Given the description of an element on the screen output the (x, y) to click on. 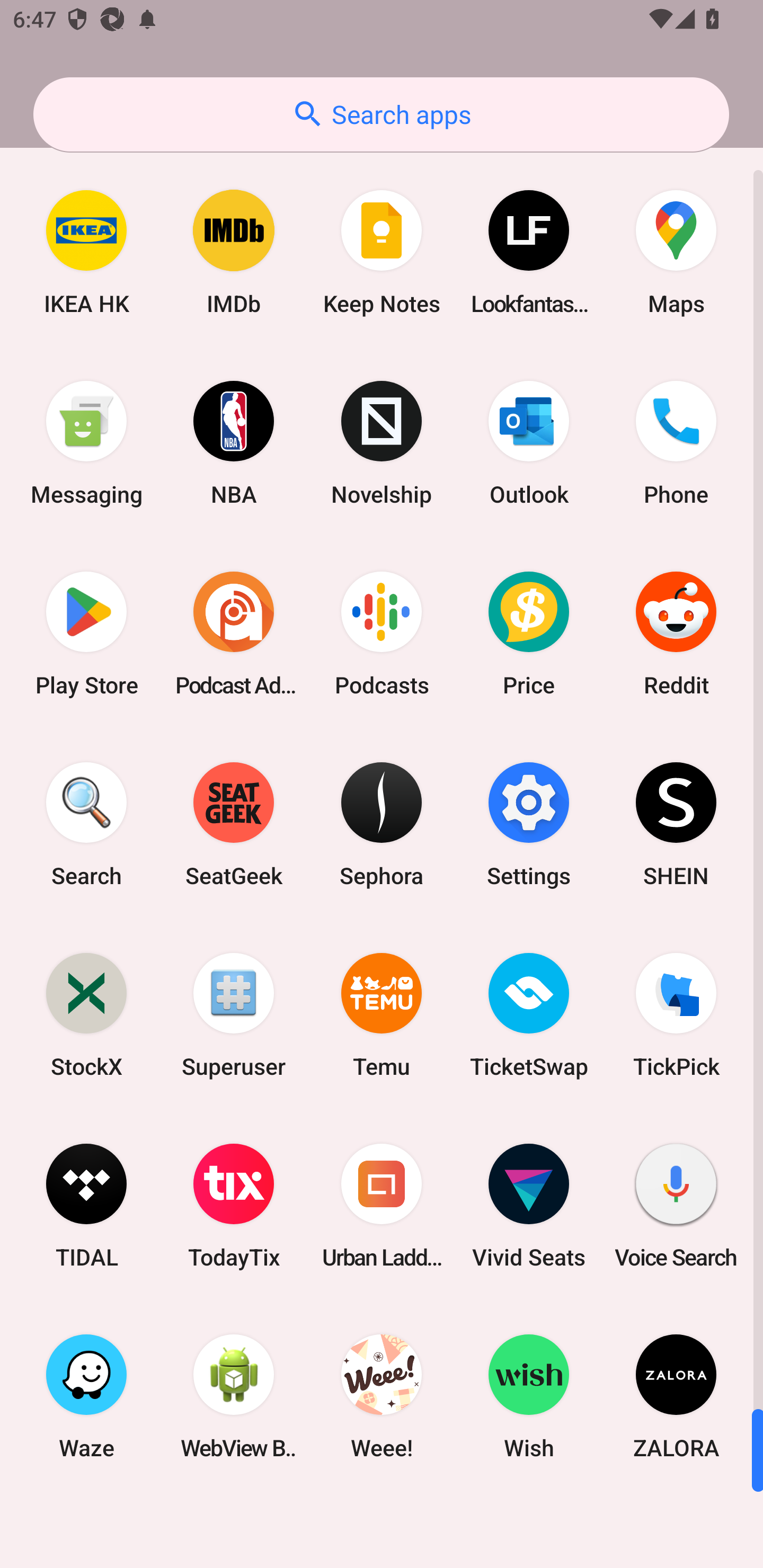
  Search apps (381, 114)
IKEA HK (86, 252)
IMDb (233, 252)
Keep Notes (381, 252)
Lookfantastic (528, 252)
Maps (676, 252)
Messaging (86, 442)
NBA (233, 442)
Novelship (381, 442)
Outlook (528, 442)
Phone (676, 442)
Play Store (86, 633)
Podcast Addict (233, 633)
Podcasts (381, 633)
Price (528, 633)
Reddit (676, 633)
Search (86, 823)
SeatGeek (233, 823)
Sephora (381, 823)
Settings (528, 823)
SHEIN (676, 823)
StockX (86, 1014)
Superuser (233, 1014)
Temu (381, 1014)
TicketSwap (528, 1014)
TickPick (676, 1014)
TIDAL (86, 1205)
TodayTix (233, 1205)
Urban Ladder (381, 1205)
Vivid Seats (528, 1205)
Voice Search (676, 1205)
Waze (86, 1396)
WebView Browser Tester (233, 1396)
Weee! (381, 1396)
Wish (528, 1396)
ZALORA (676, 1396)
